Given the description of an element on the screen output the (x, y) to click on. 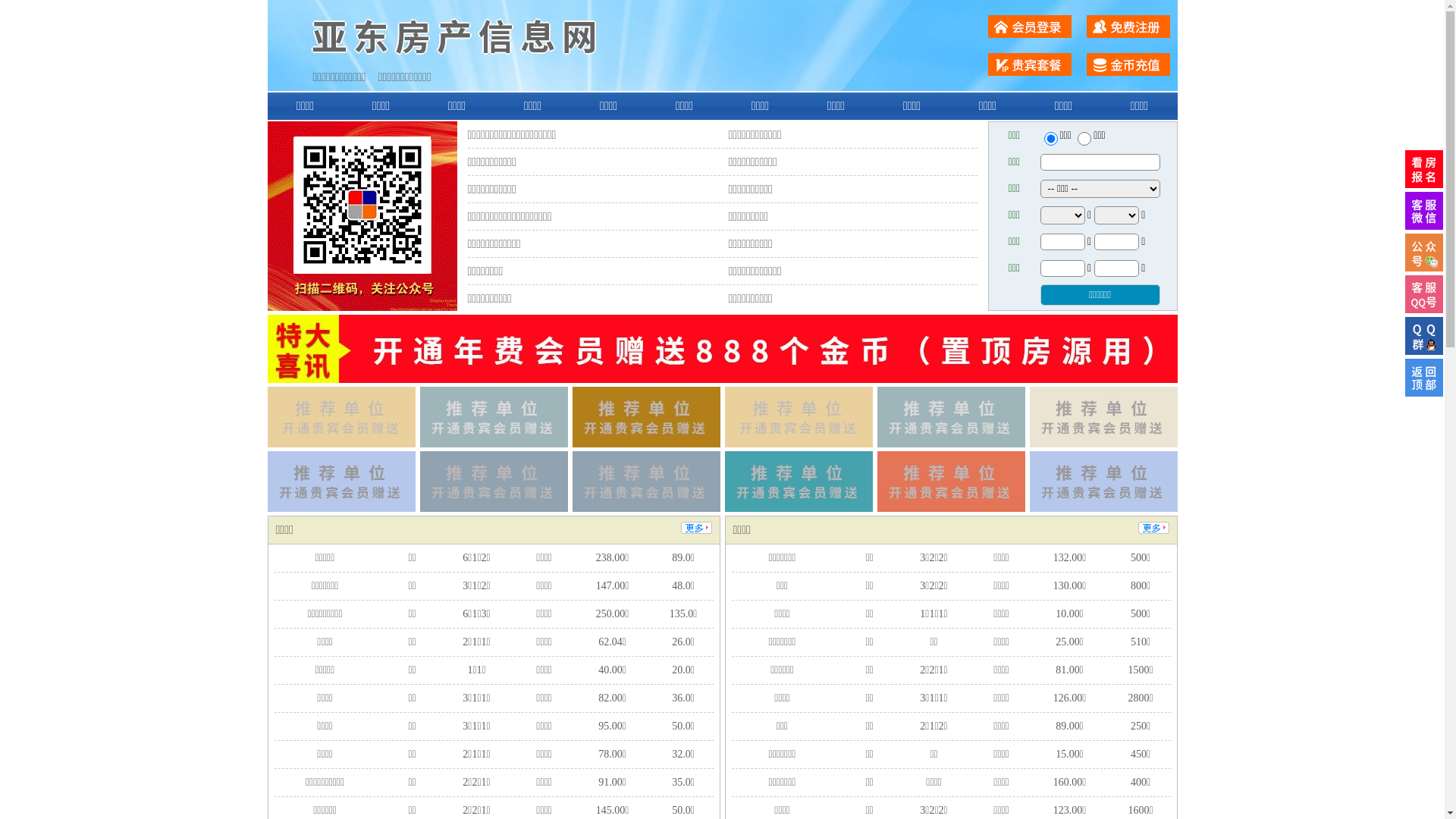
ershou Element type: text (1050, 138)
chuzu Element type: text (1084, 138)
